Given the description of an element on the screen output the (x, y) to click on. 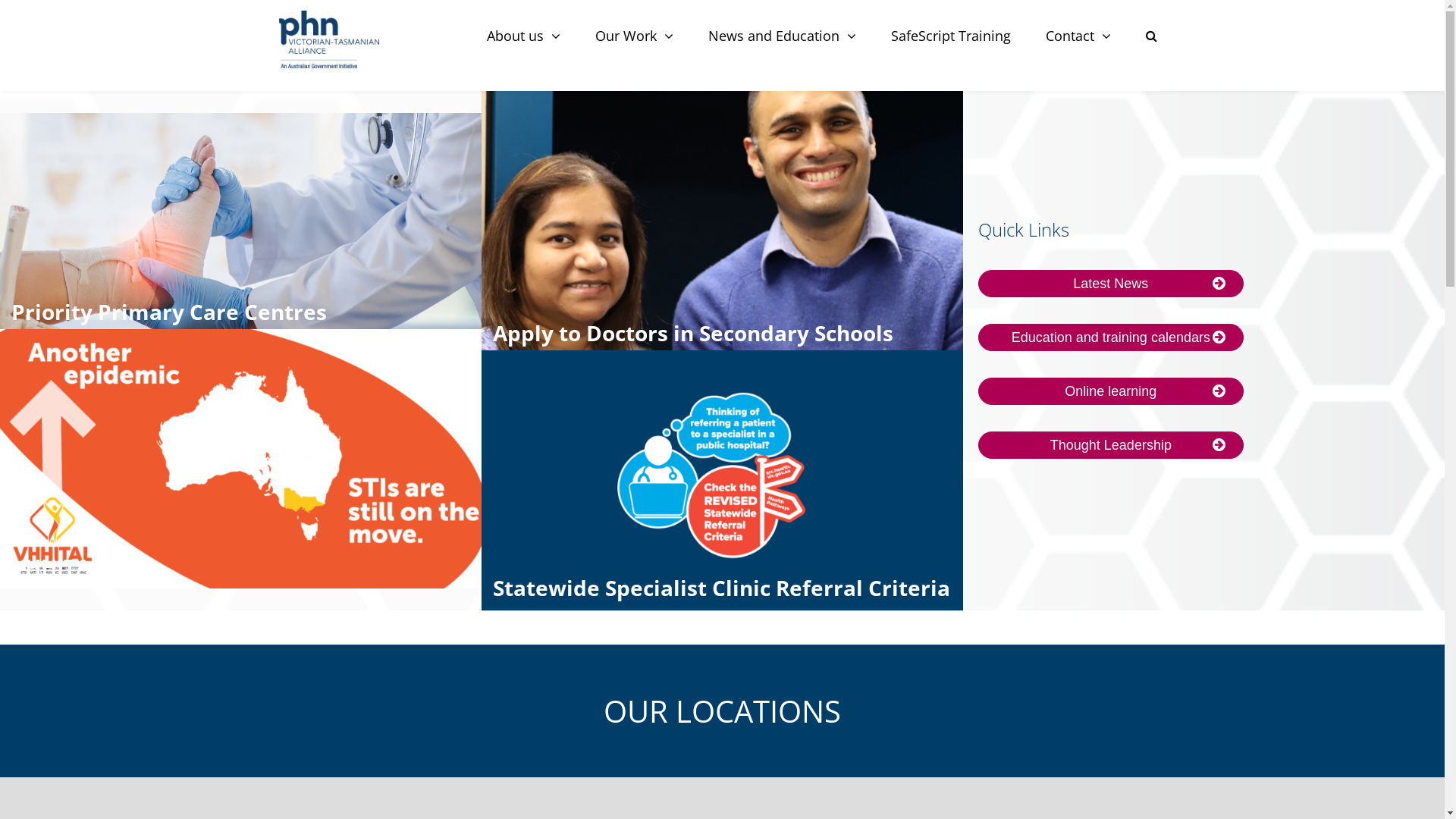
News and Education Element type: text (781, 36)
Latest News Element type: text (1110, 283)
Contact Element type: text (1078, 36)
SafeScript Training Element type: text (950, 36)
Education and training calendars Element type: text (1110, 337)
Thought Leadership Element type: text (1110, 444)
About us Element type: text (522, 36)
Our Work Element type: text (633, 36)
VTPHNA Element type: hover (329, 39)
Online learning Element type: text (1110, 390)
